Given the description of an element on the screen output the (x, y) to click on. 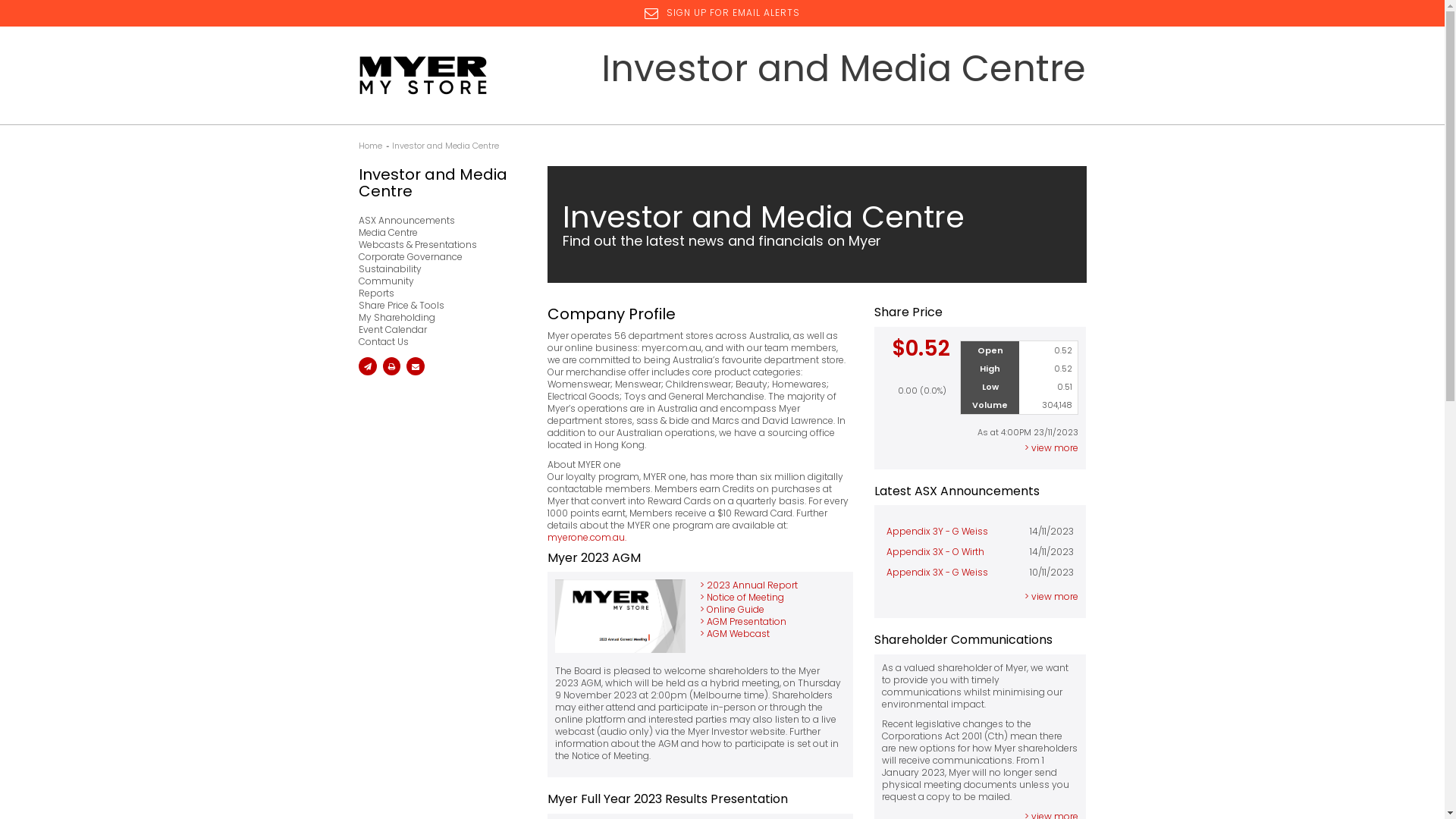
Share Price & Tools Element type: text (437, 305)
> view more Element type: text (1051, 447)
Sustainability Element type: text (437, 269)
Appendix 3Y - G Weiss Element type: text (937, 530)
Media Centre Element type: text (437, 232)
> 2023 Annual Report Element type: text (748, 584)
Appendix 3X - G Weiss Element type: text (937, 571)
> AGM Webcast Element type: text (734, 633)
> Online Guide Element type: text (731, 608)
Email this page Element type: hover (366, 366)
Email Alerts Element type: hover (415, 366)
Corporate Governance Element type: text (437, 257)
Contact Us Element type: text (437, 341)
> Notice of Meeting Element type: text (741, 596)
Webcasts & Presentations Element type: text (437, 244)
Investor and Media Centre Element type: text (437, 182)
> AGM Presentation Element type: text (742, 621)
Community Element type: text (437, 281)
> view more Element type: text (1051, 595)
My Shareholding Element type: text (437, 317)
Appendix 3X - O Wirth Element type: text (935, 551)
Print this page Element type: hover (390, 366)
Reports Element type: text (437, 293)
myerone.com.au. Element type: text (586, 536)
Investor and Media Centre Element type: text (444, 145)
ASX Announcements Element type: text (437, 220)
SIGN UP FOR EMAIL ALERTS Element type: text (722, 12)
Home Element type: text (369, 145)
Event Calendar Element type: text (437, 329)
